Given the description of an element on the screen output the (x, y) to click on. 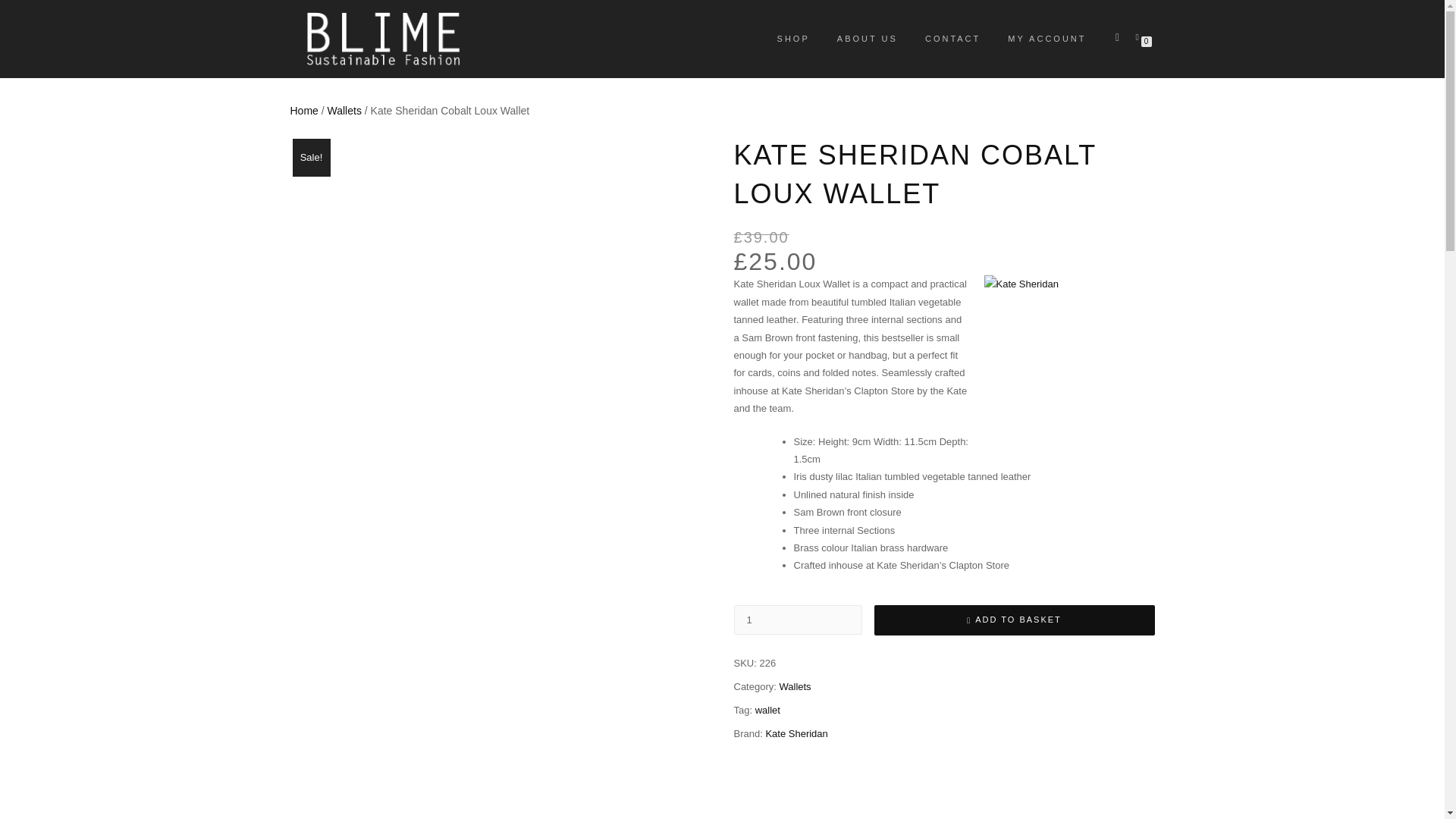
SHOP (793, 38)
1 (798, 619)
MY ACCOUNT (1046, 38)
ABOUT US (866, 38)
Kate Sheridan (796, 733)
Wallets (794, 686)
wallet (767, 709)
DESCRIPTION (343, 813)
Wallets (344, 110)
Home (303, 110)
View your shopping basket (1139, 35)
CONTACT (952, 38)
0 (1139, 35)
ADD TO BASKET (1013, 620)
